Given the description of an element on the screen output the (x, y) to click on. 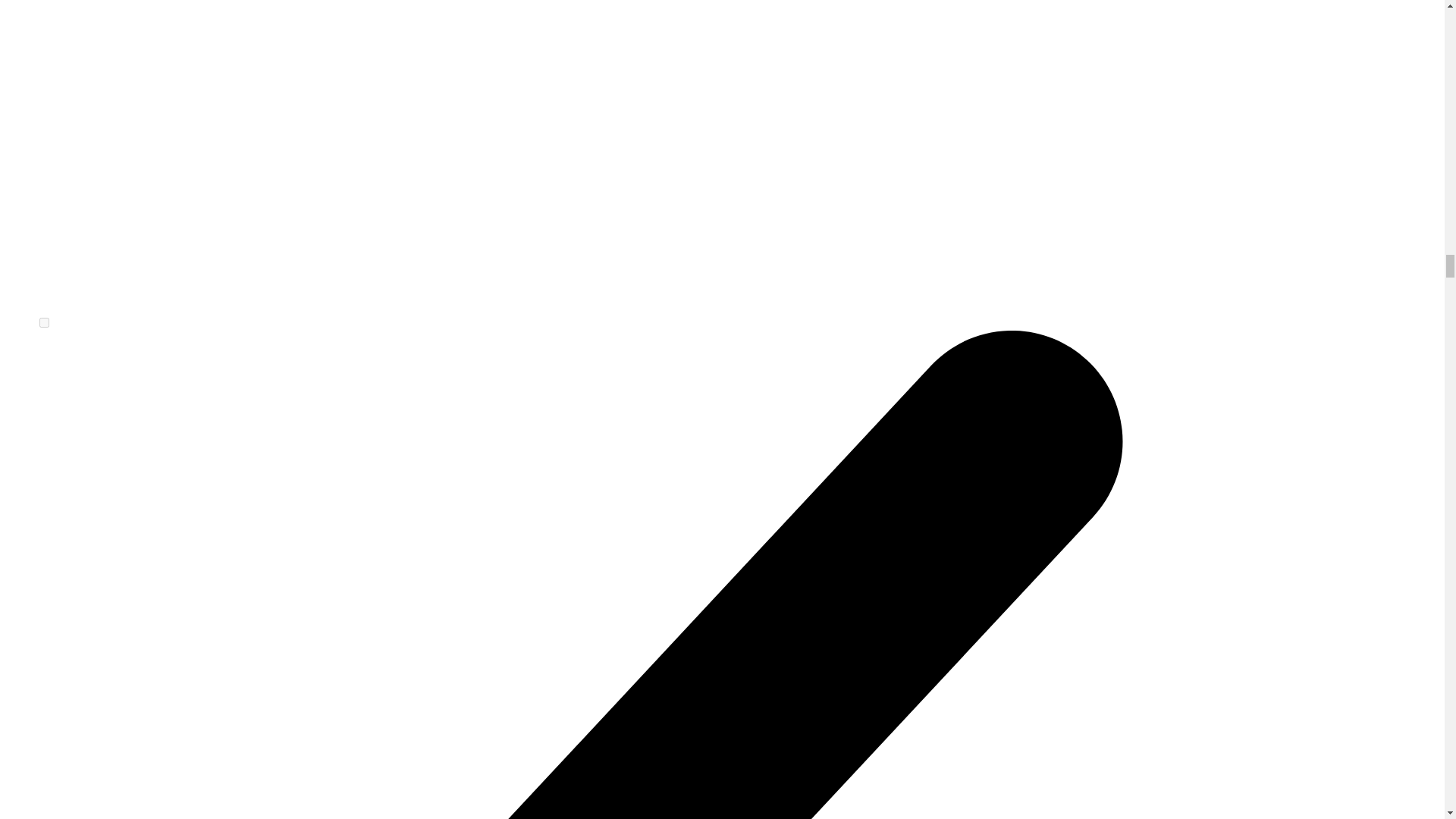
on (44, 322)
